Given the description of an element on the screen output the (x, y) to click on. 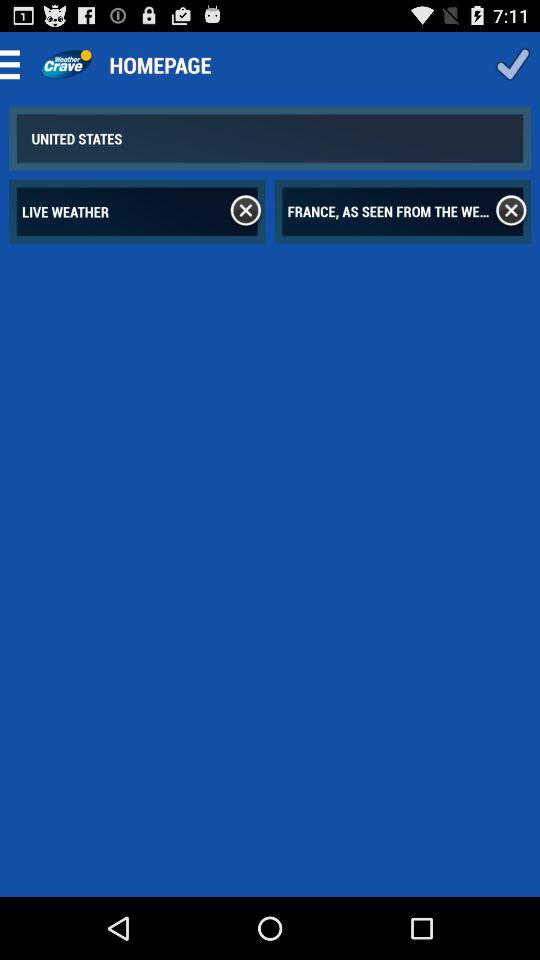
close it (511, 211)
